Given the description of an element on the screen output the (x, y) to click on. 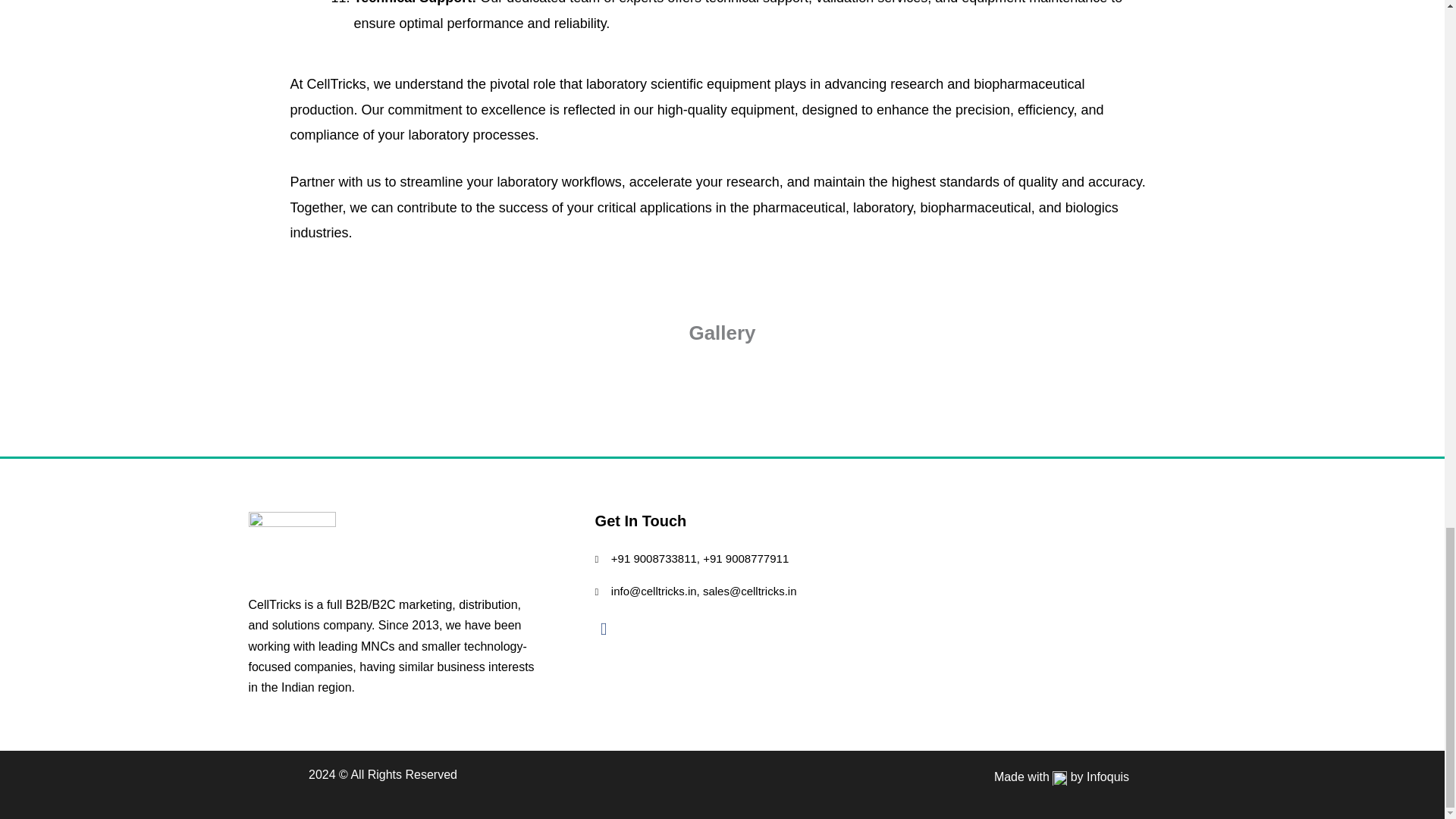
Infoquis (1107, 776)
celltricks (1046, 604)
Linkedin (603, 628)
